Given the description of an element on the screen output the (x, y) to click on. 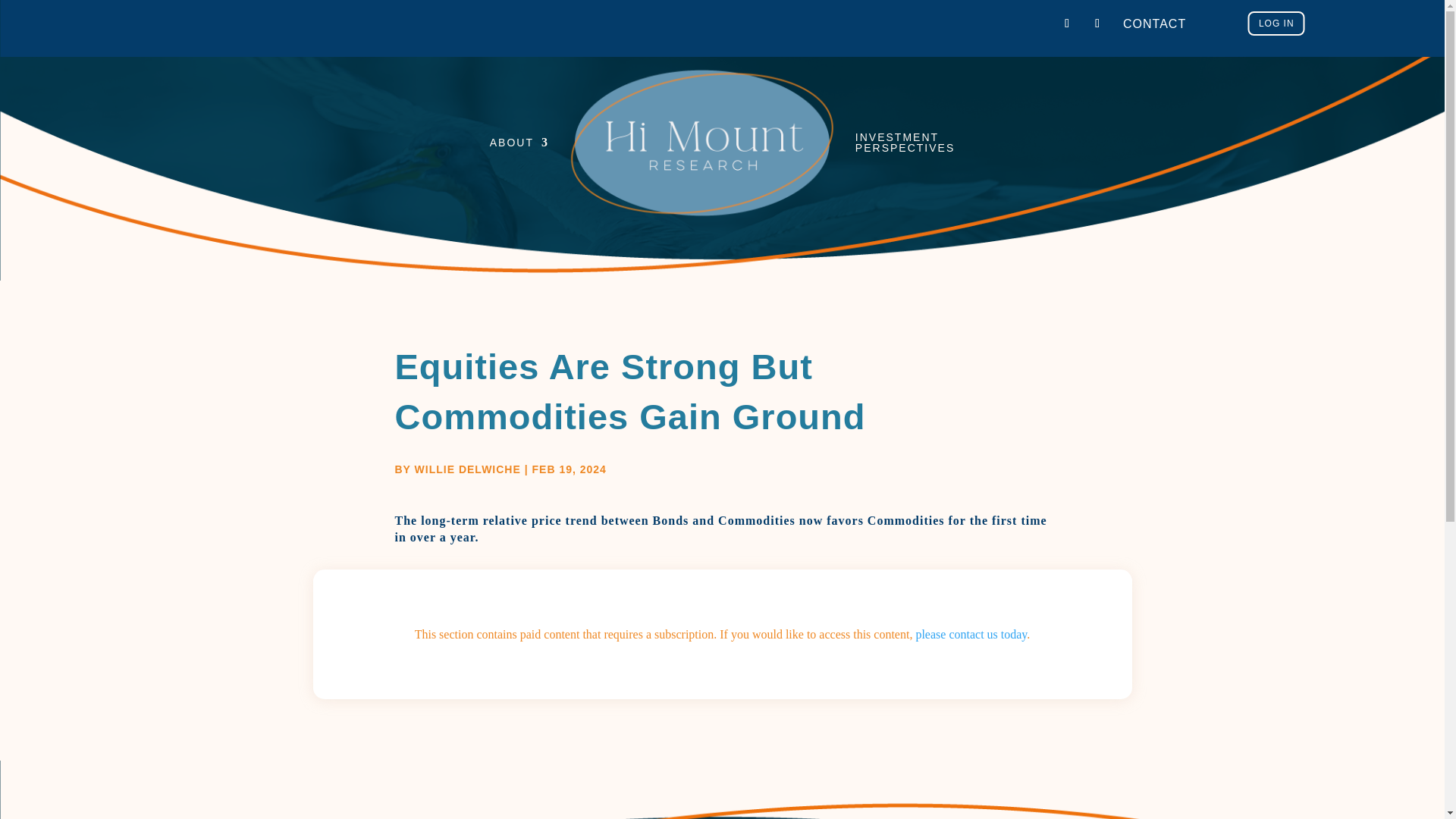
Posts by Willie Delwiche (467, 469)
CONTACT (1154, 23)
LOG IN (1275, 23)
Follow on LinkedIn (1096, 23)
Follow on X (1066, 23)
